Given the description of an element on the screen output the (x, y) to click on. 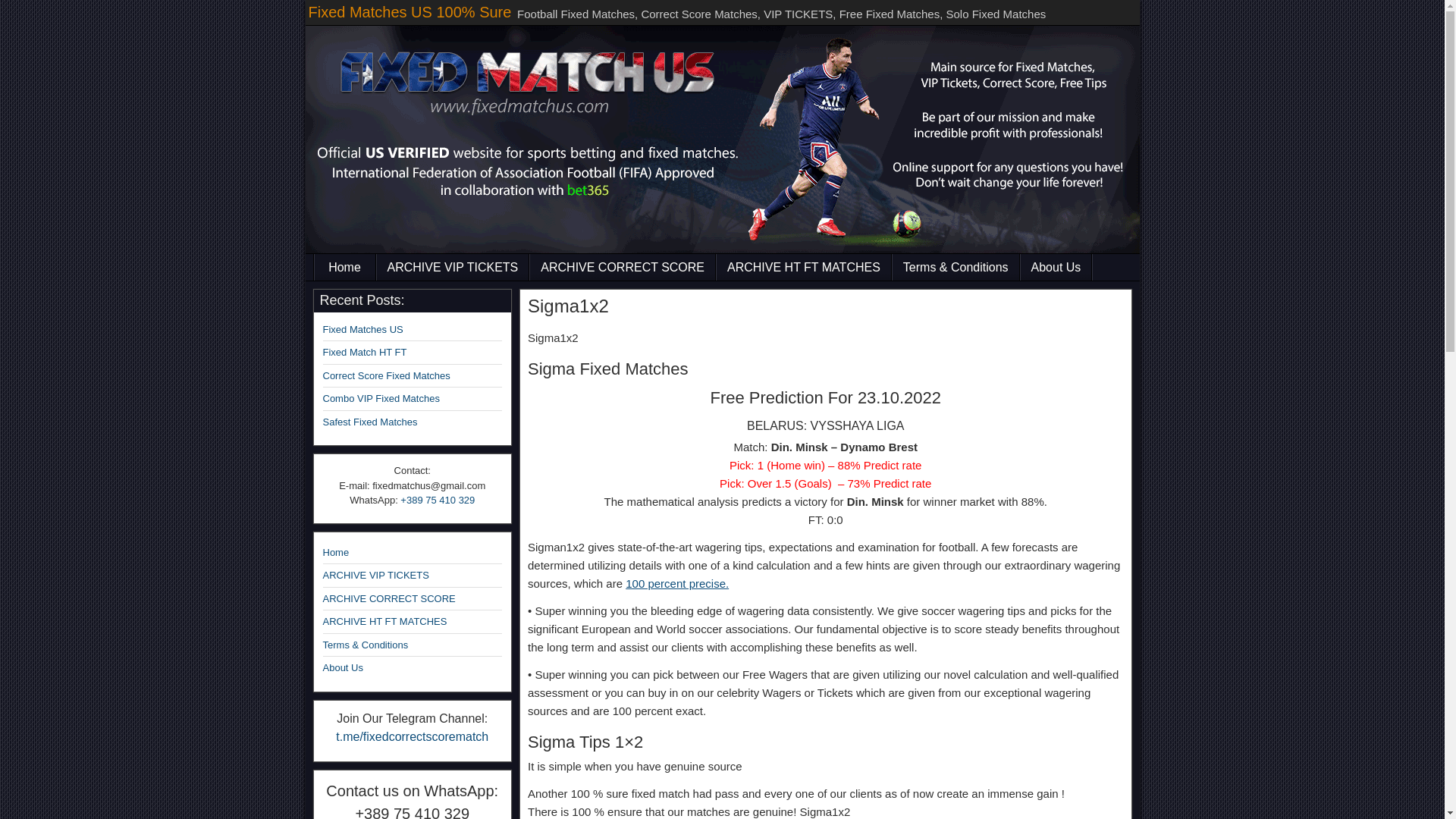
ARCHIVE HT FT MATCHES (803, 266)
Correct Score Fixed Matches (386, 375)
About Us (1056, 266)
Sigma1x2 (567, 305)
ARCHIVE VIP TICKETS (451, 266)
Safest Fixed Matches (370, 421)
Combo VIP Fixed Matches (381, 398)
Fixed Matches US (363, 328)
ARCHIVE CORRECT SCORE (621, 266)
About Us (342, 667)
100 percent precise. (677, 583)
ARCHIVE CORRECT SCORE (389, 598)
Home (336, 552)
ARCHIVE HT FT MATCHES (384, 621)
Home (344, 266)
